Given the description of an element on the screen output the (x, y) to click on. 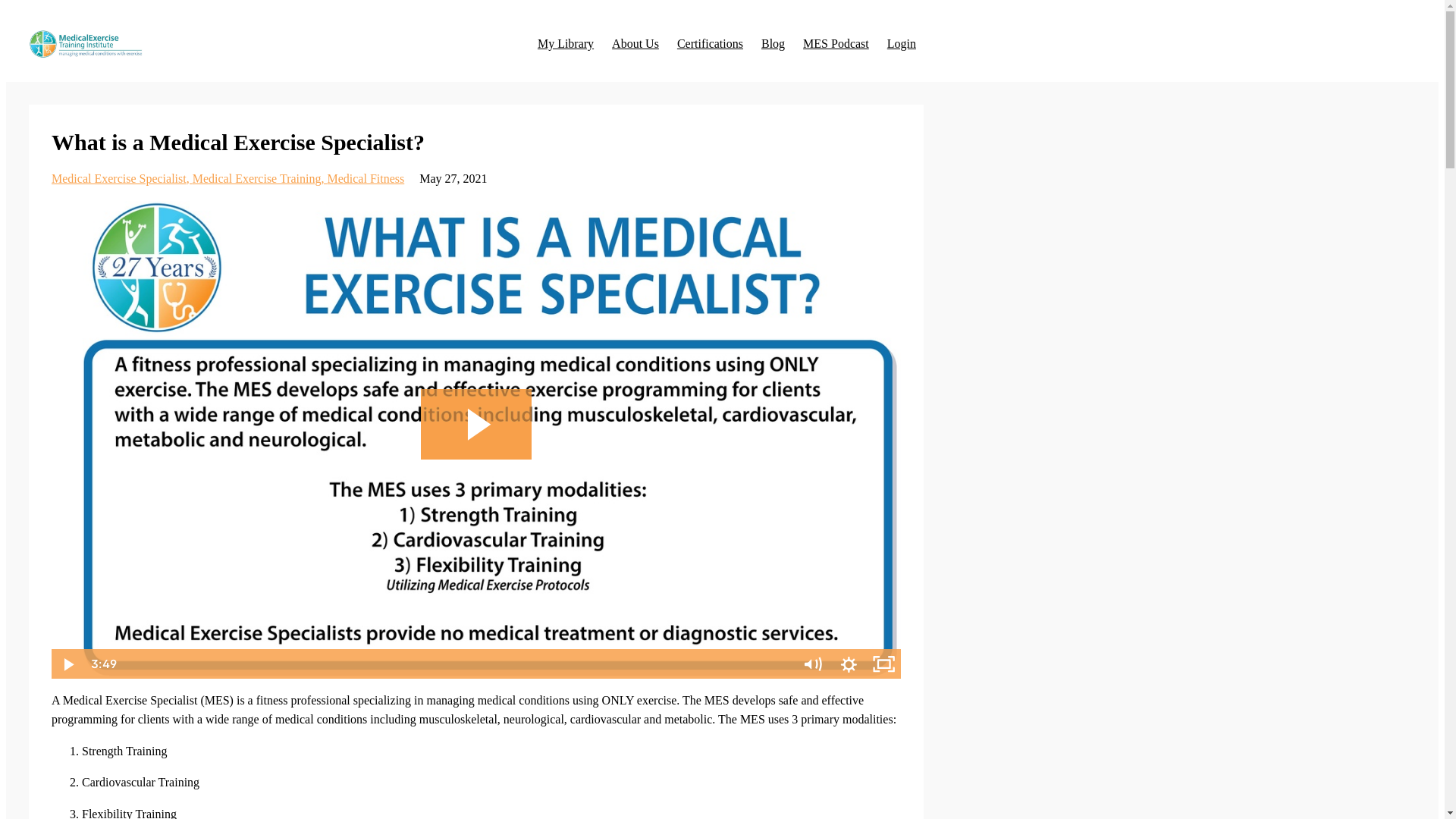
Login (900, 43)
Play Video (67, 664)
Medical Fitness (365, 178)
Medical Exercise Specialist (121, 178)
Mute (812, 664)
Medical Exercise Training (259, 178)
About Us (635, 43)
My Library (565, 43)
Certifications (709, 43)
Show settings menu (848, 664)
Fullscreen (883, 664)
MES Podcast (836, 43)
